Given the description of an element on the screen output the (x, y) to click on. 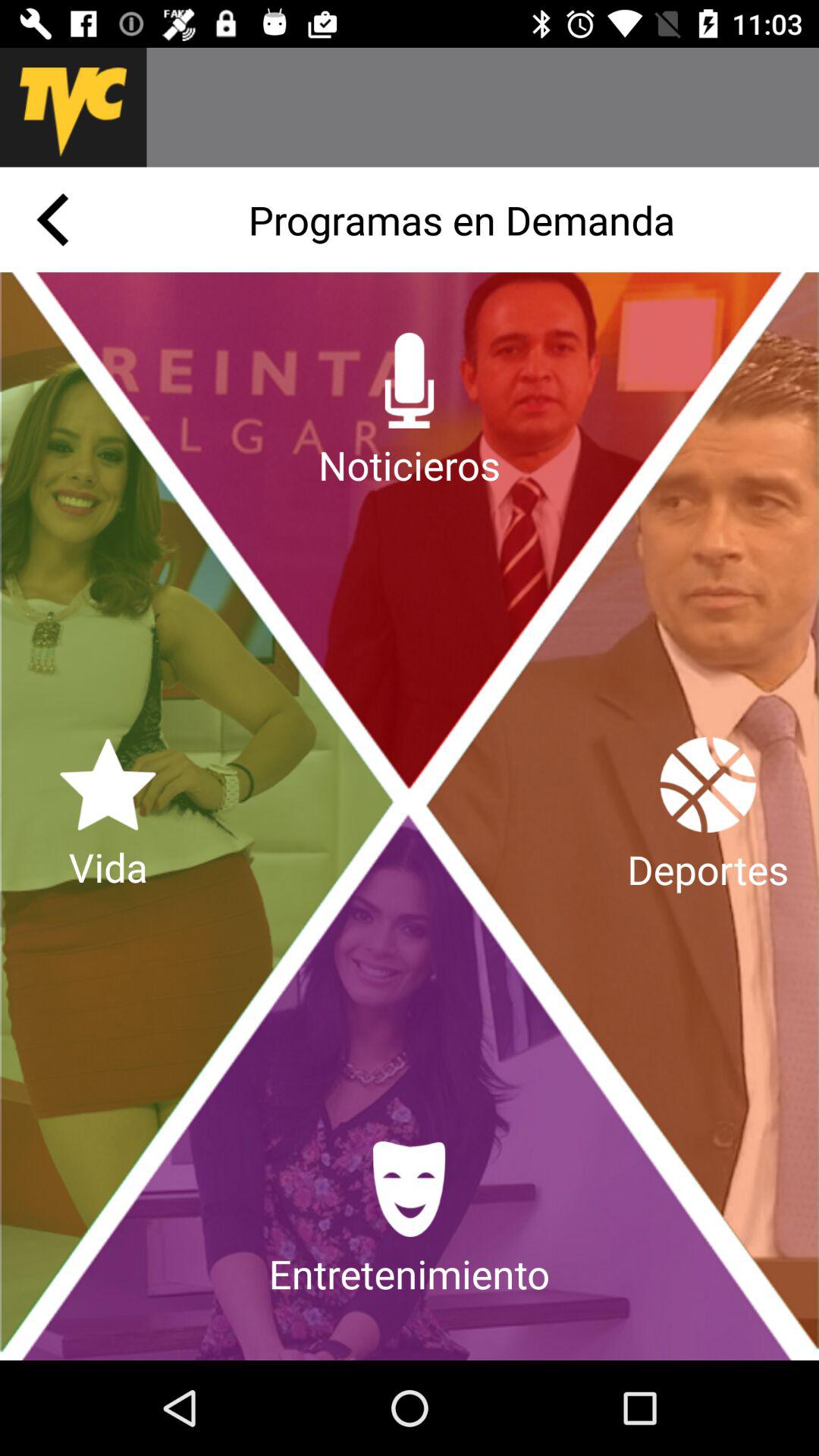
select the icon on the right (708, 815)
